Given the description of an element on the screen output the (x, y) to click on. 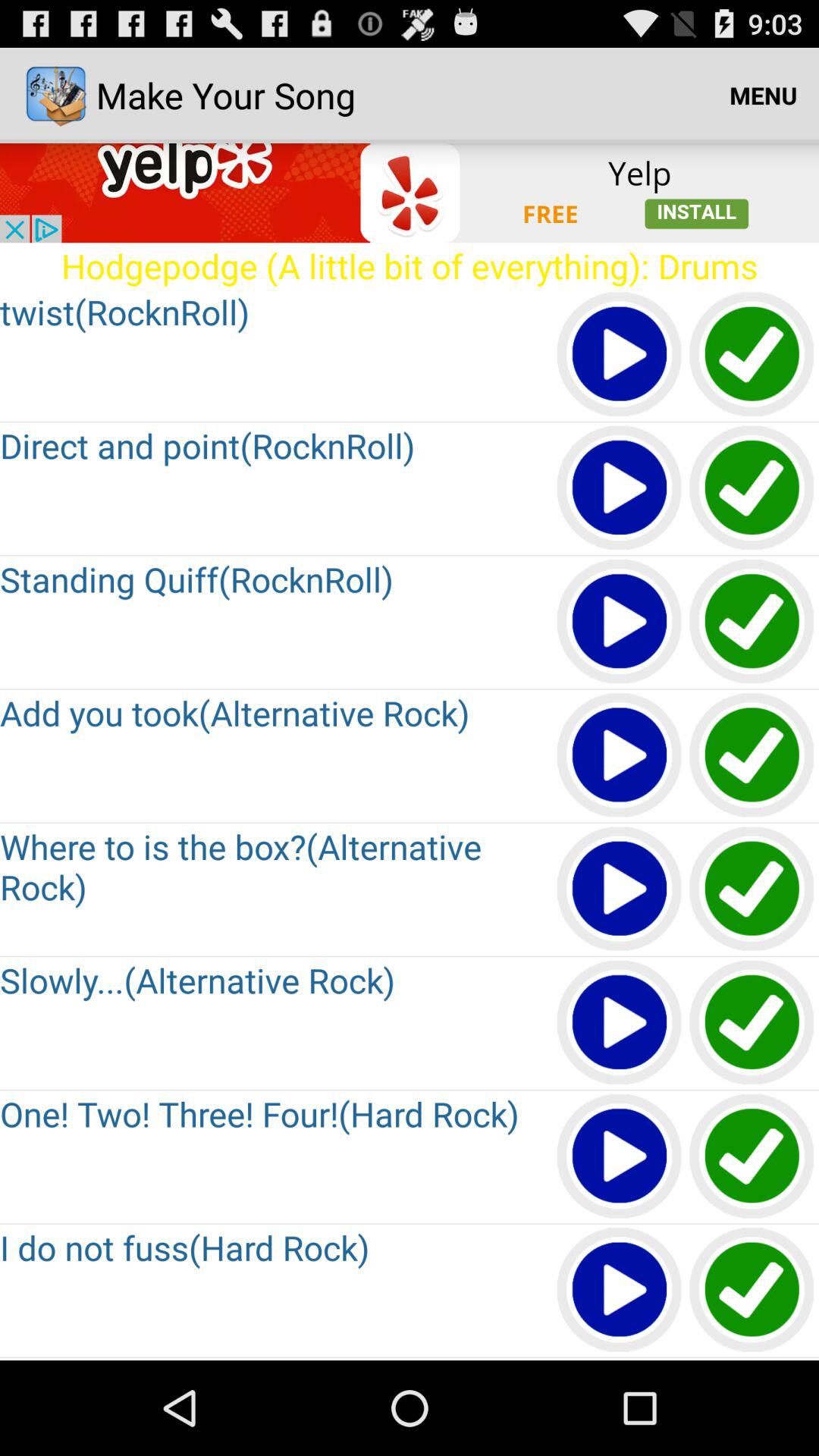
check the song (752, 755)
